Given the description of an element on the screen output the (x, y) to click on. 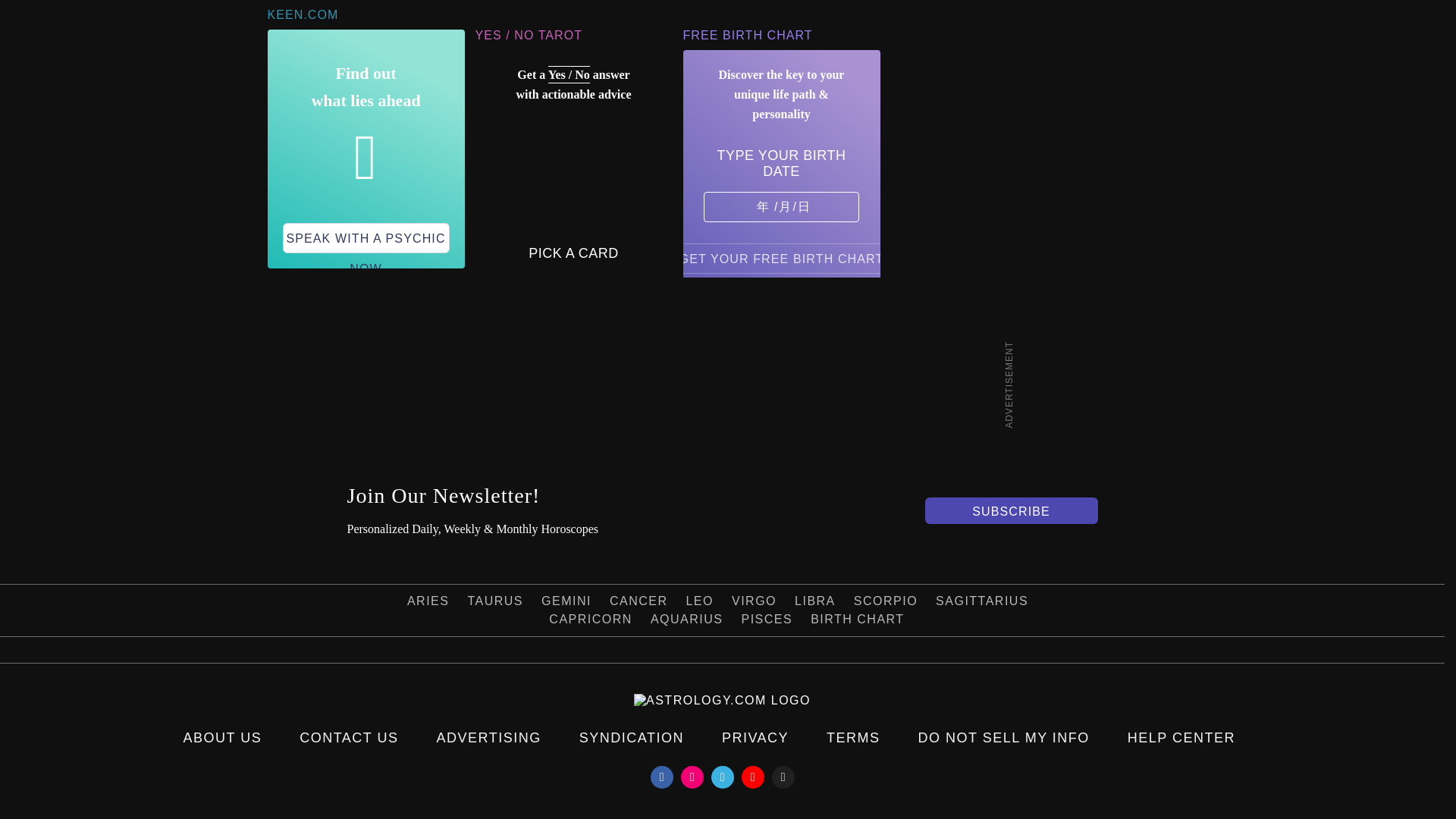
Get your free birth chart (781, 258)
